Given the description of an element on the screen output the (x, y) to click on. 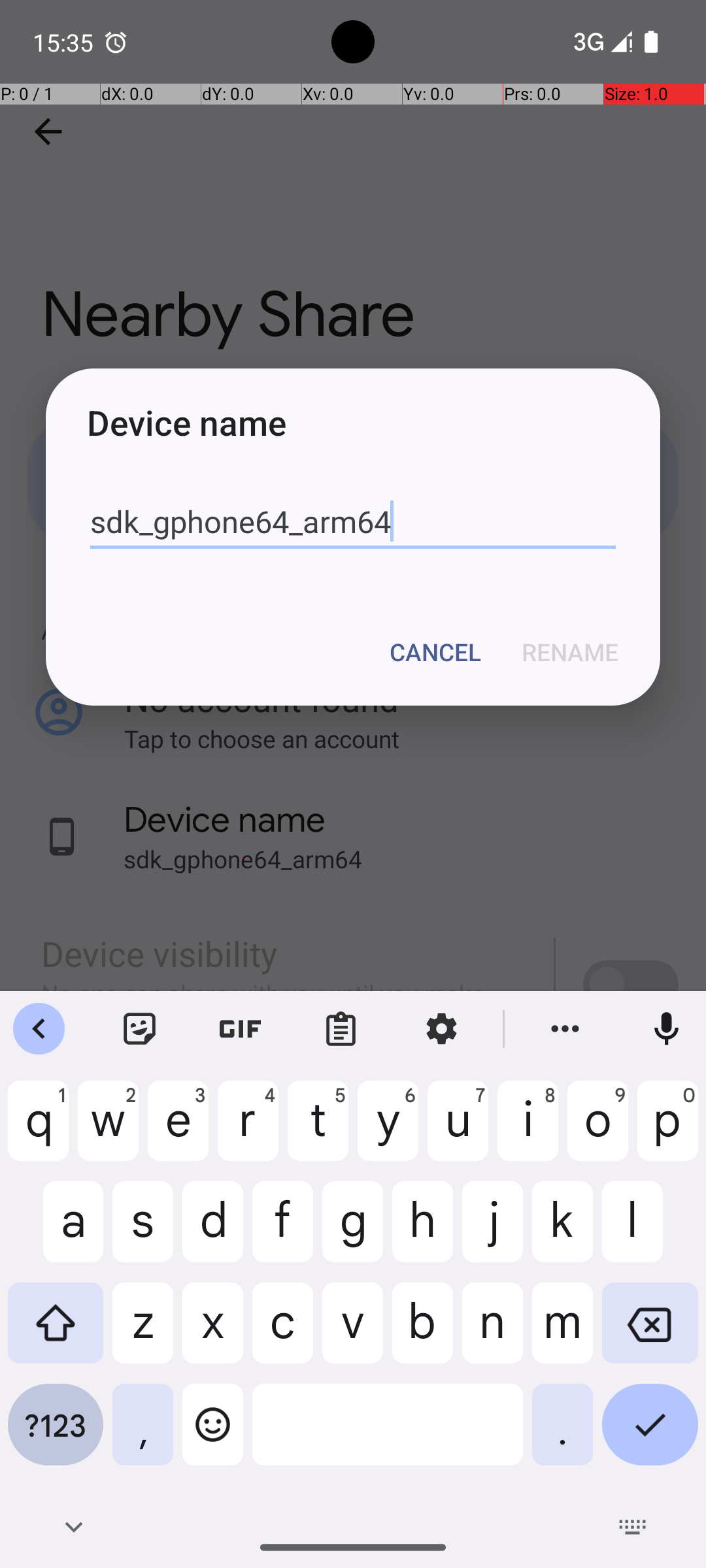
RENAME Element type: android.widget.Button (570, 651)
